Given the description of an element on the screen output the (x, y) to click on. 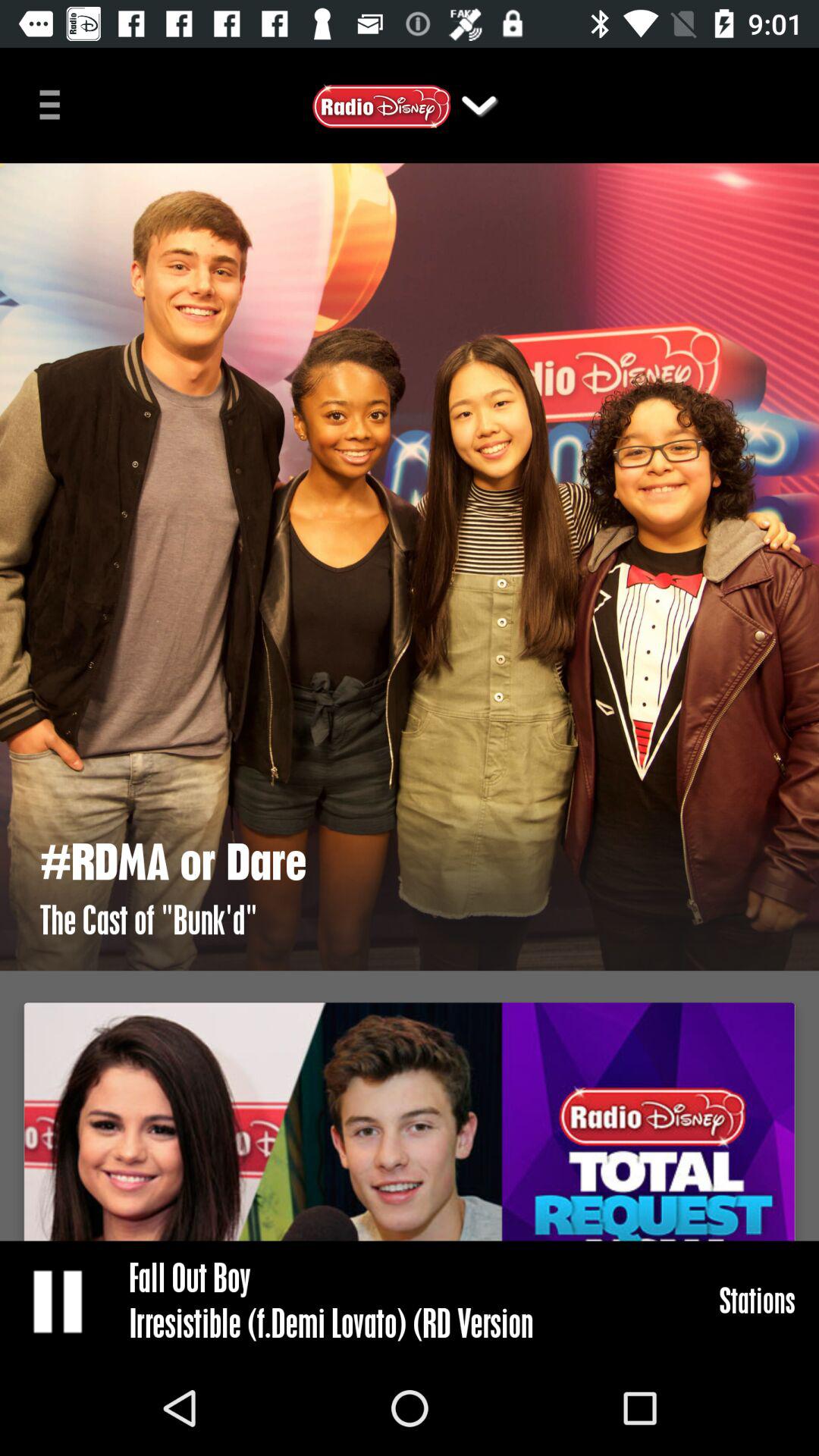
open the item to the left of fall out boy (59, 1300)
